Given the description of an element on the screen output the (x, y) to click on. 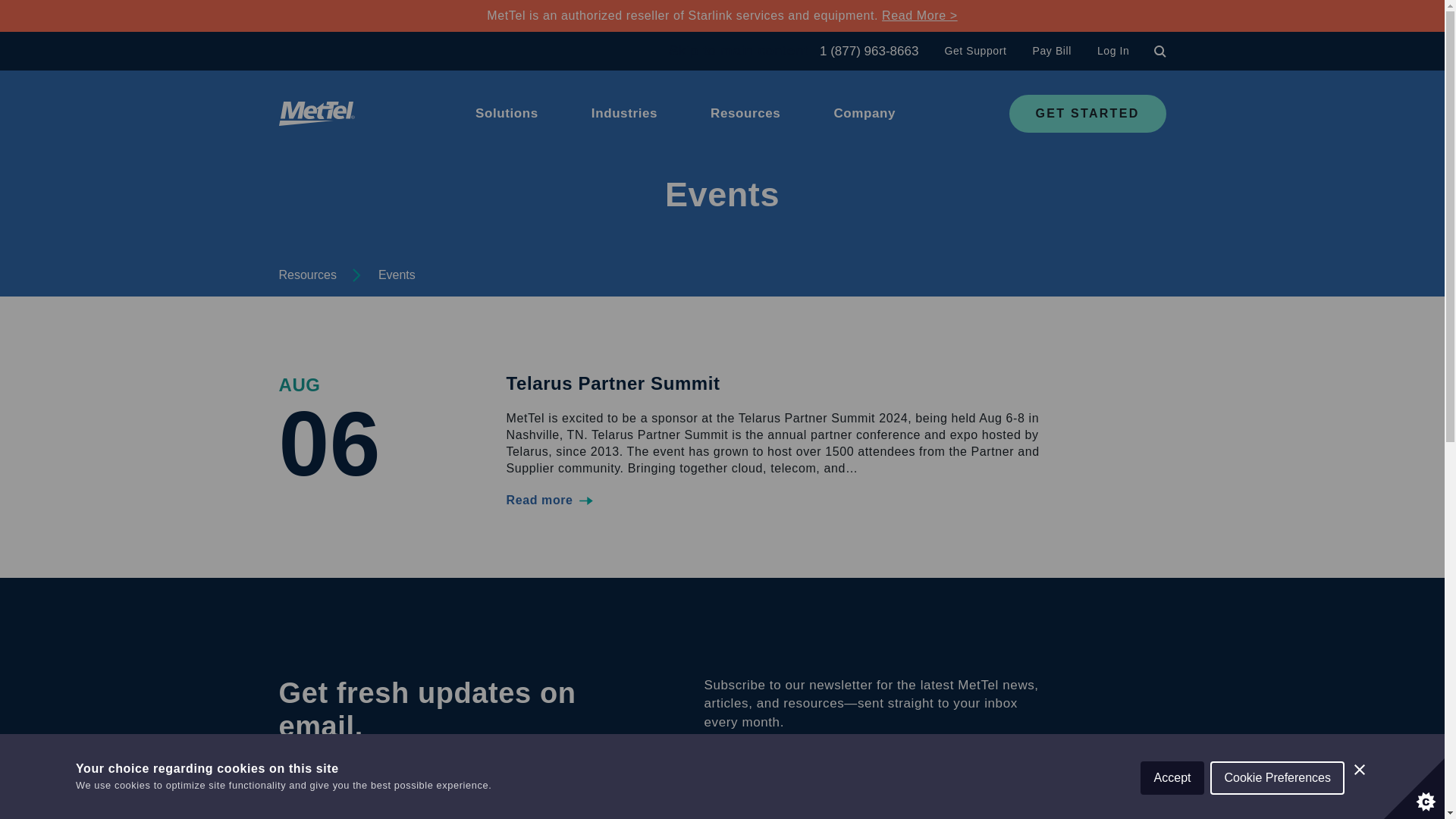
Cookie Preferences (1276, 808)
Solutions (507, 102)
Pay Bill (1051, 50)
Skip to main content (743, 50)
Get Support (974, 50)
Accept (1172, 815)
Log In (1113, 50)
Sign In (494, 580)
